Given the description of an element on the screen output the (x, y) to click on. 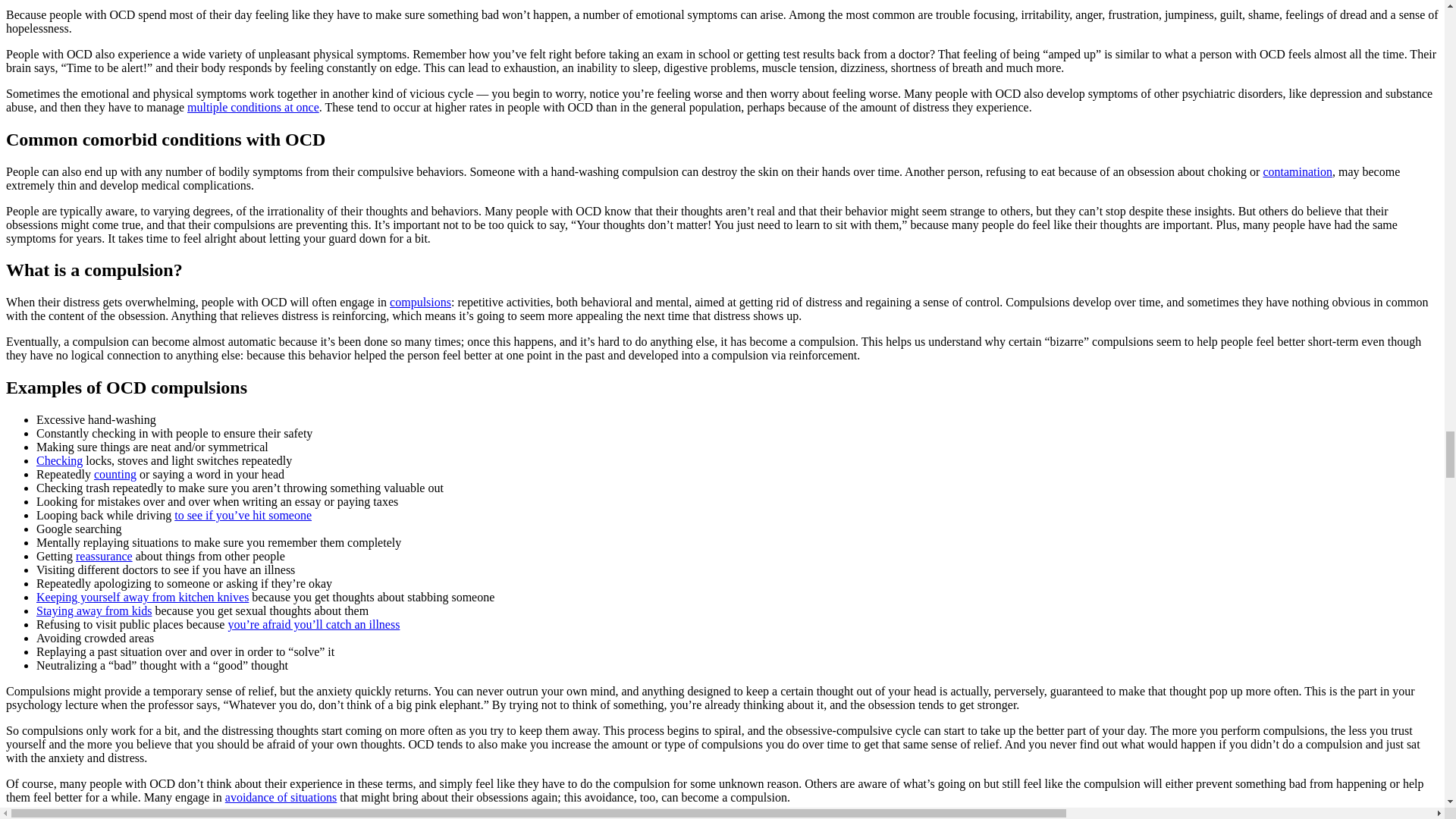
counting (115, 473)
Checking (59, 460)
compulsions (420, 301)
multiple conditions at once (252, 106)
contamination (1297, 171)
